Given the description of an element on the screen output the (x, y) to click on. 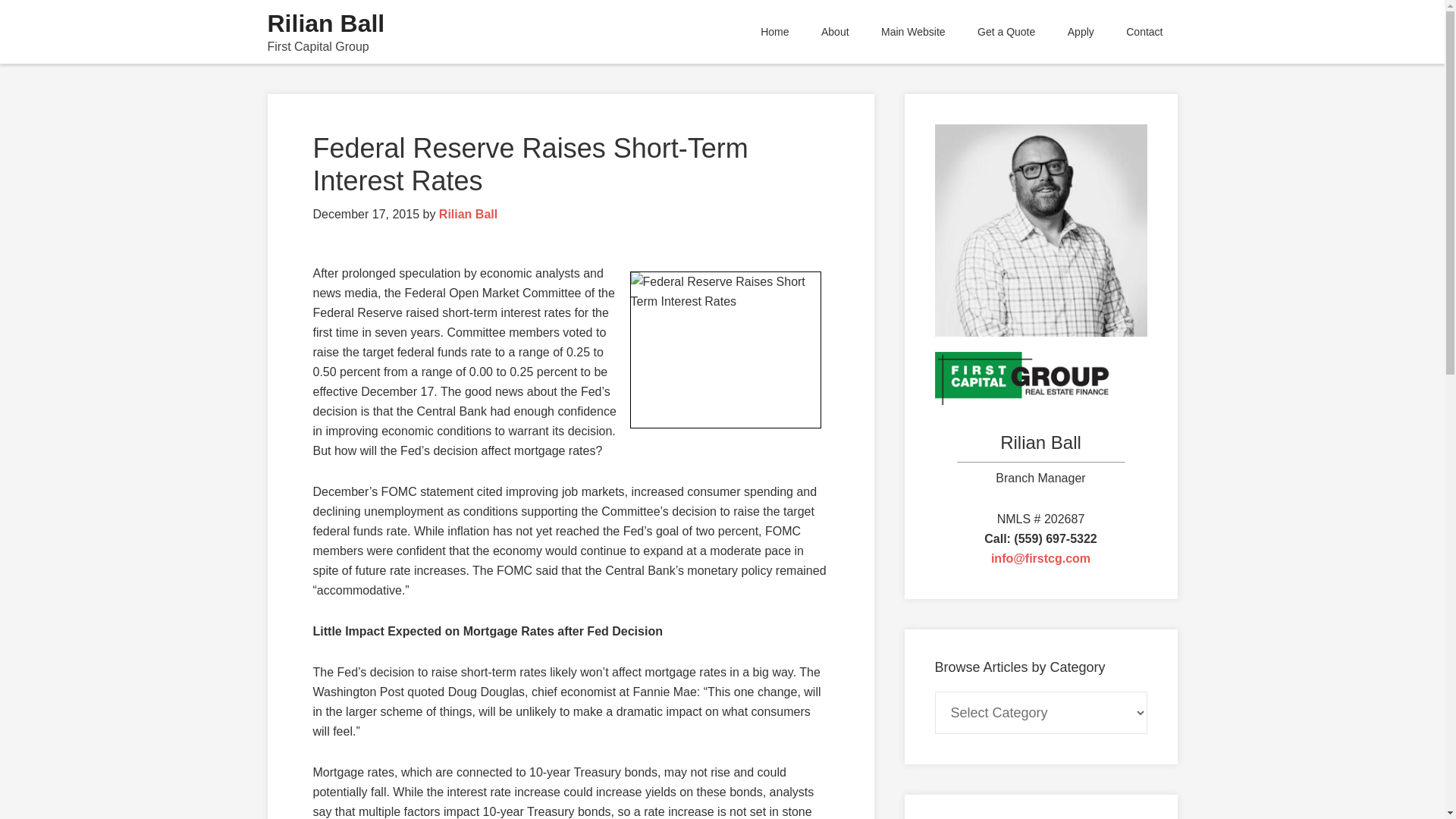
Federal Reserve Raises Short Term Interest Rates (724, 349)
Main Website (912, 31)
About (834, 31)
Rilian Ball (325, 22)
Apply (1080, 31)
Contact (1144, 31)
Rilian Ball (468, 214)
Get a Quote (1005, 31)
Home (774, 31)
